Given the description of an element on the screen output the (x, y) to click on. 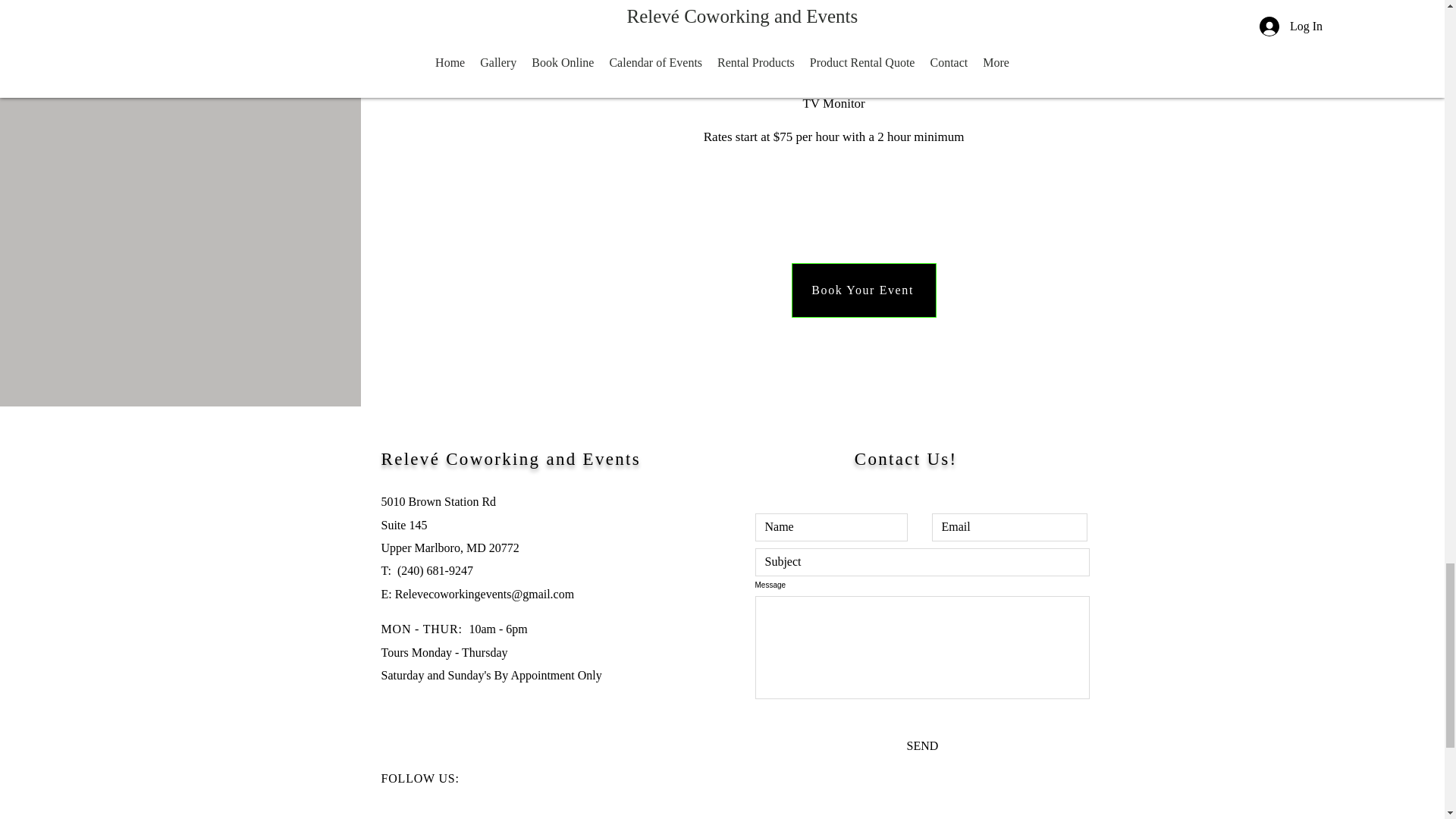
Book Your Event (864, 289)
SEND (922, 745)
